Given the description of an element on the screen output the (x, y) to click on. 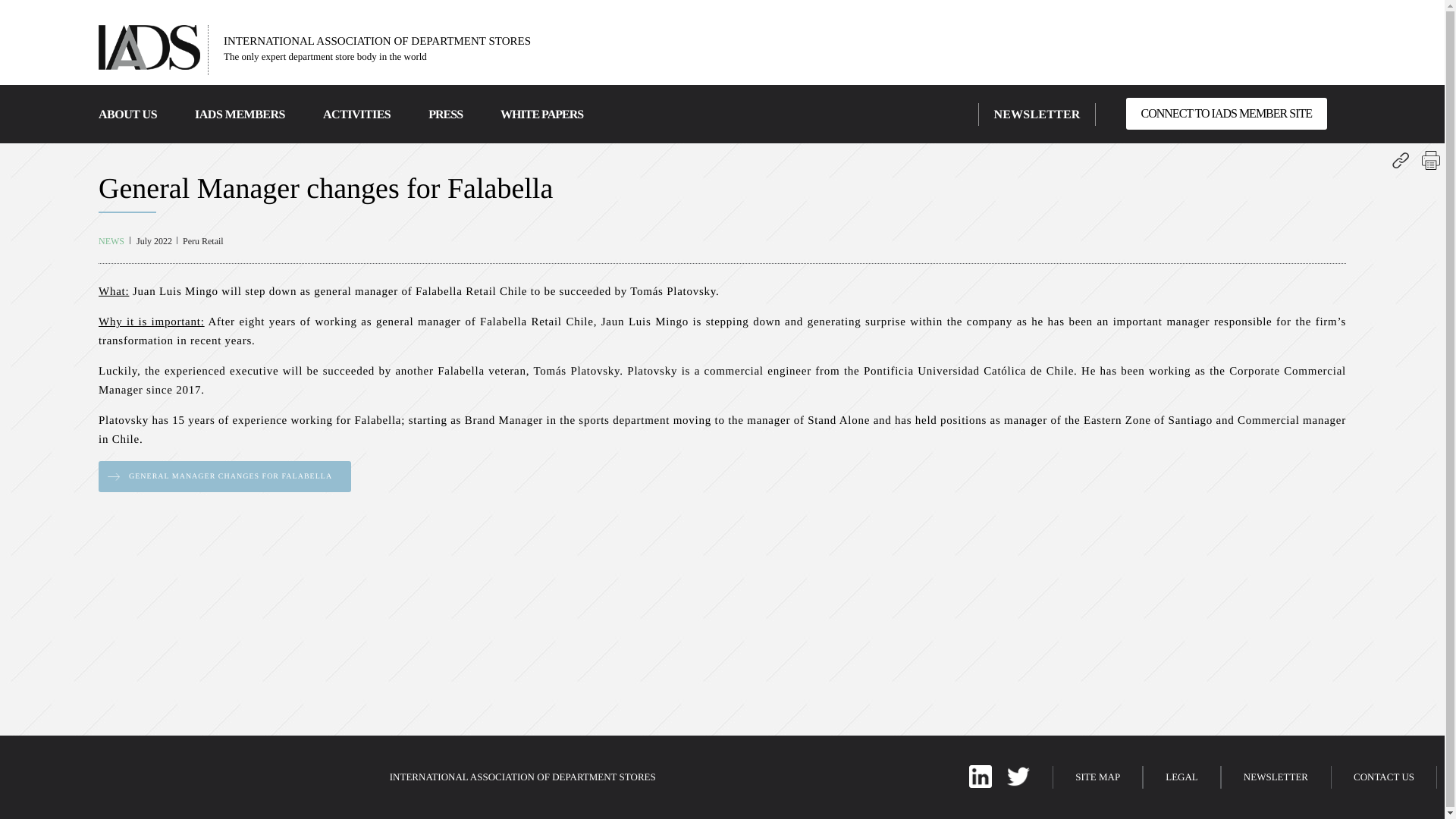
GENERAL MANAGER CHANGES FOR FALABELLA (224, 476)
WHITE PAPERS (541, 114)
NEWSLETTER (1036, 114)
CONNECT TO IADS MEMBER SITE (1225, 113)
PRESS (445, 114)
